Given the description of an element on the screen output the (x, y) to click on. 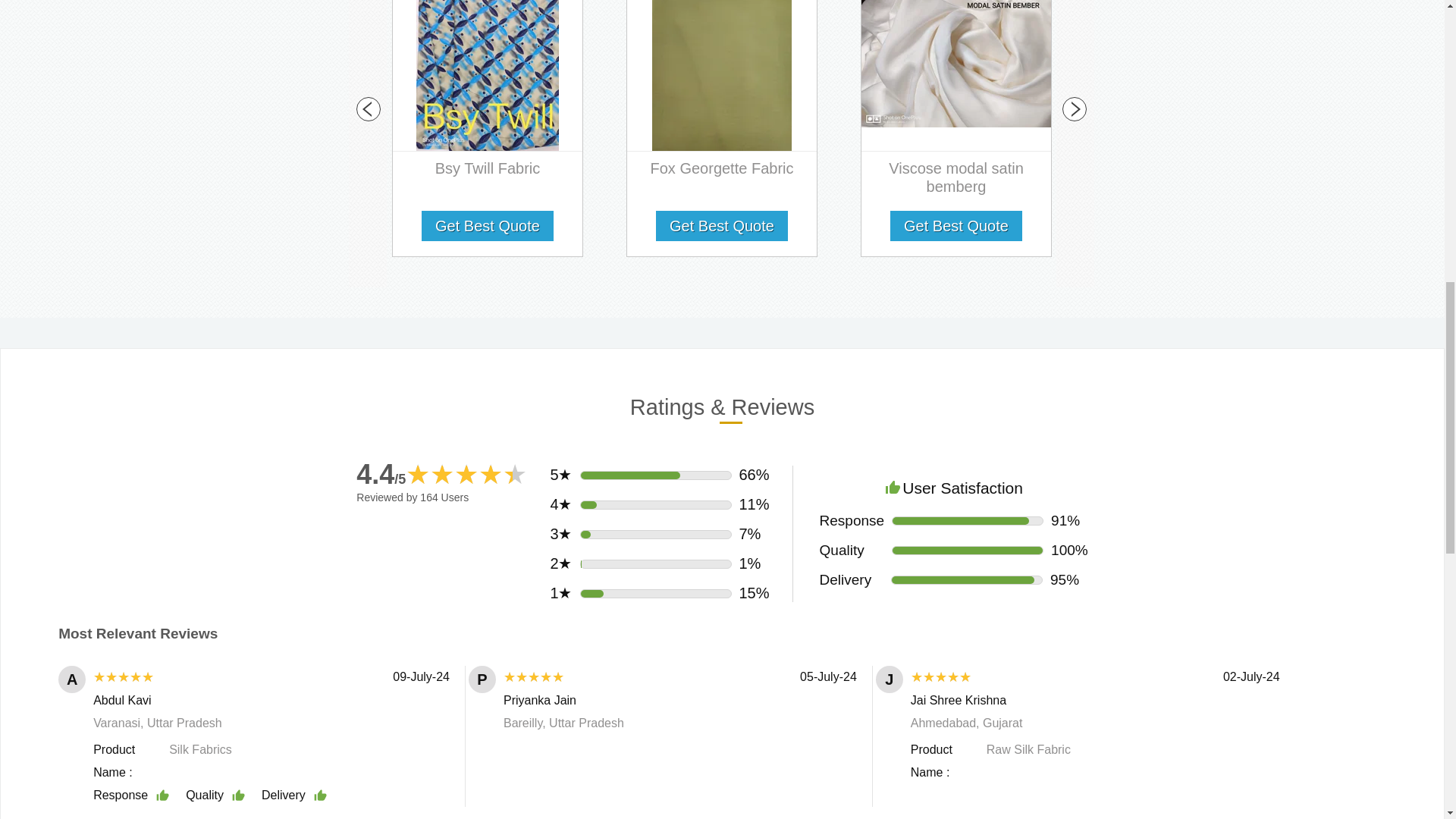
Fox Georgette Fabric (721, 171)
Viscose modal satin bemberg (956, 180)
Bsy Twill Fabric (487, 171)
View More Reviews (721, 812)
4.4 out of 5 Votes (381, 473)
